Given the description of an element on the screen output the (x, y) to click on. 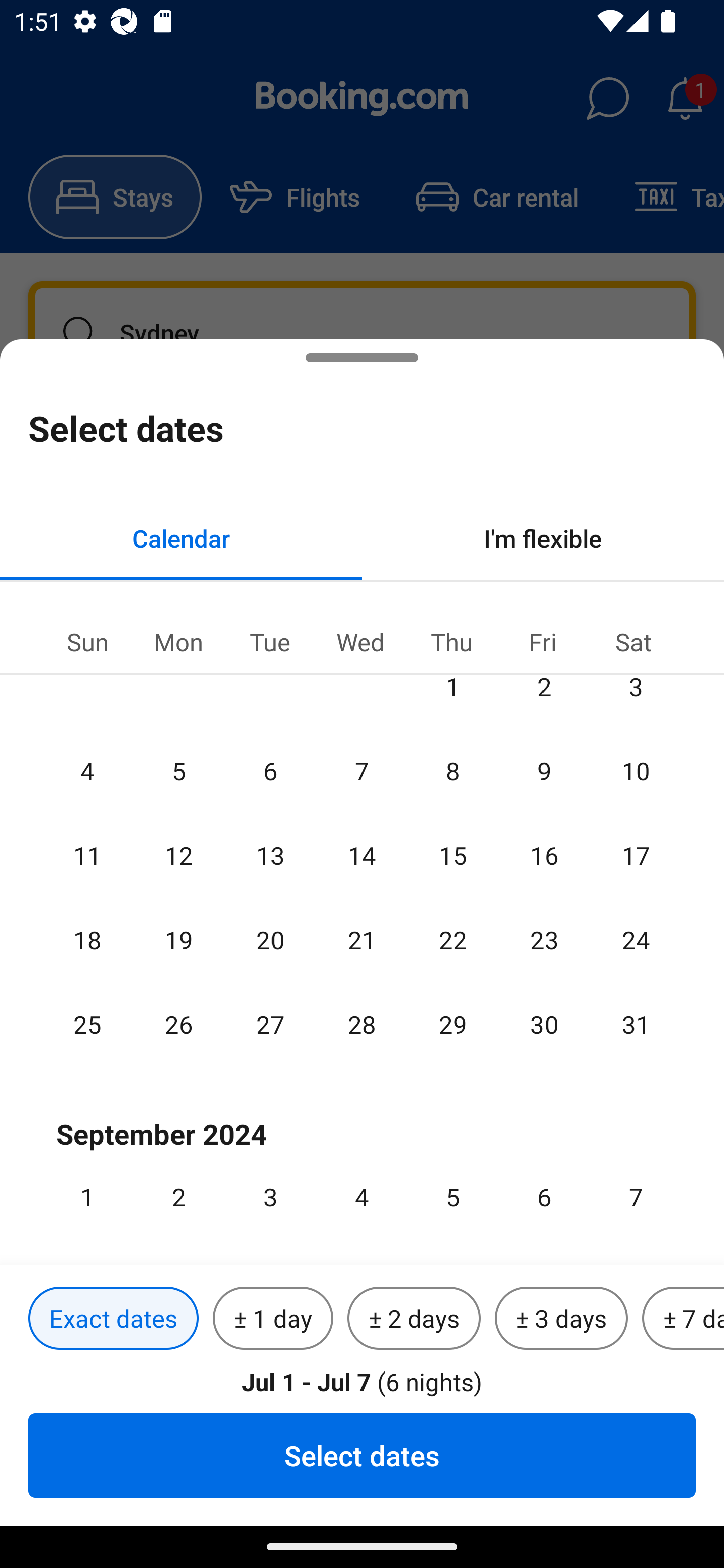
I'm flexible (543, 537)
Exact dates (113, 1318)
± 1 day (272, 1318)
± 2 days (413, 1318)
± 3 days (560, 1318)
± 7 days (683, 1318)
Select dates (361, 1454)
